Given the description of an element on the screen output the (x, y) to click on. 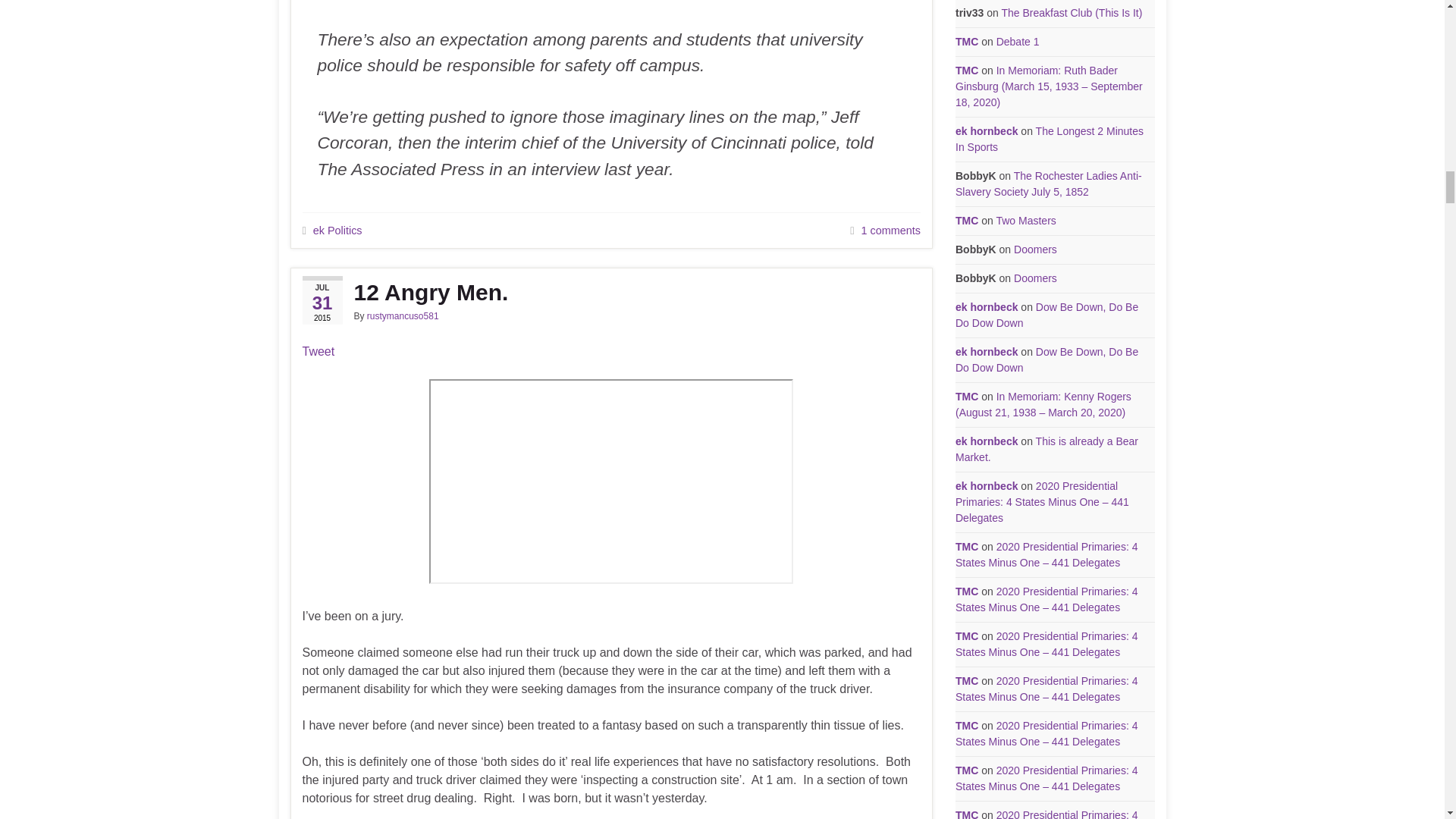
1 comments (890, 230)
Tweet (317, 350)
Permalink to 12 Angry Men. (610, 292)
12 Angry Men. (610, 292)
rustymancuso581 (402, 316)
ek Politics (337, 230)
